Given the description of an element on the screen output the (x, y) to click on. 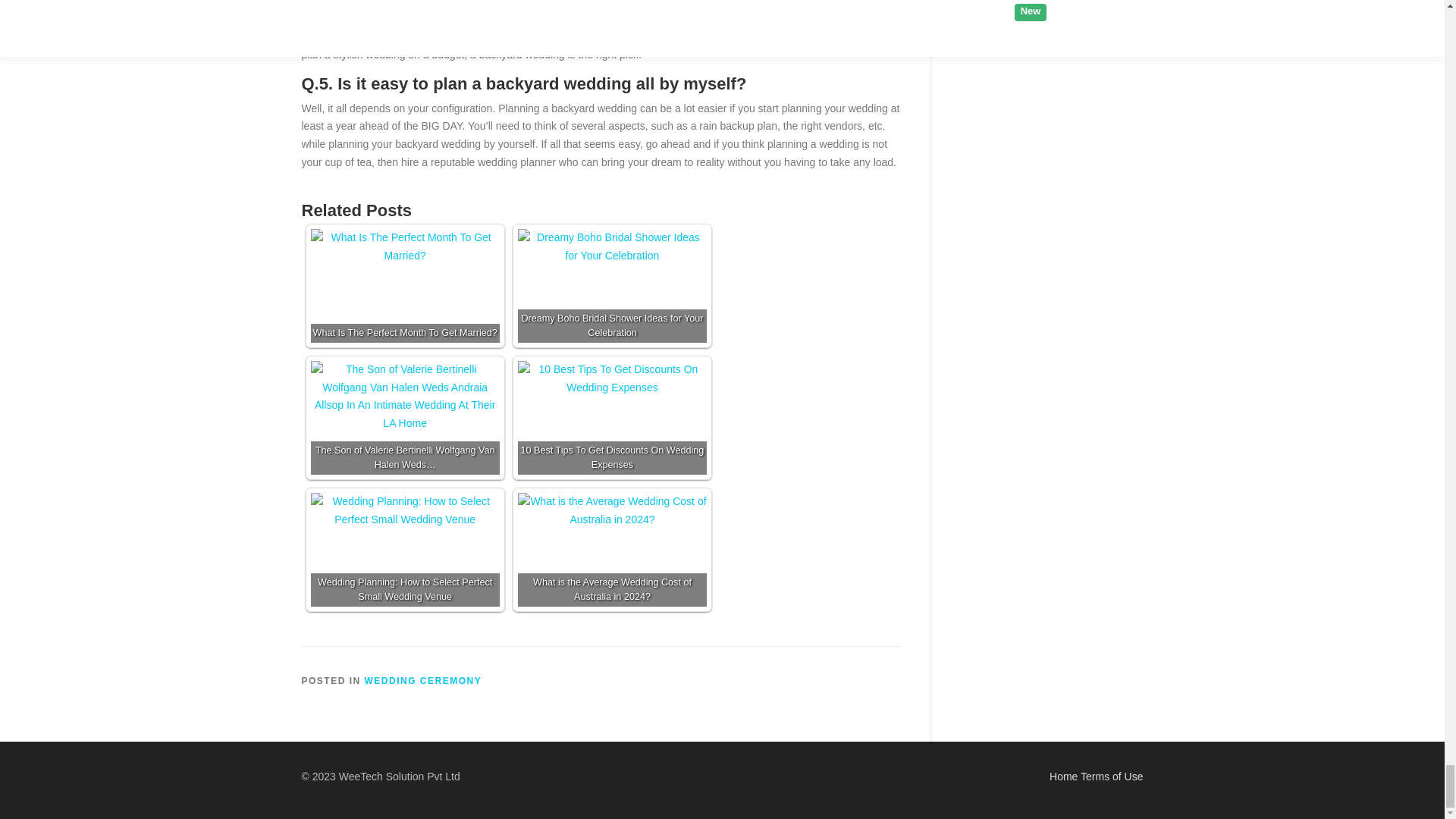
Wedding Planning: How to Select Perfect Small Wedding Venue (405, 511)
What Is The Perfect Month To Get Married? (405, 247)
Home (1063, 776)
10 Best Tips To Get Discounts On Wedding Expenses (612, 379)
Dreamy Boho Bridal Shower Ideas for Your Celebration (612, 247)
What is the Average Wedding Cost of Australia in 2024? (612, 511)
